Given the description of an element on the screen output the (x, y) to click on. 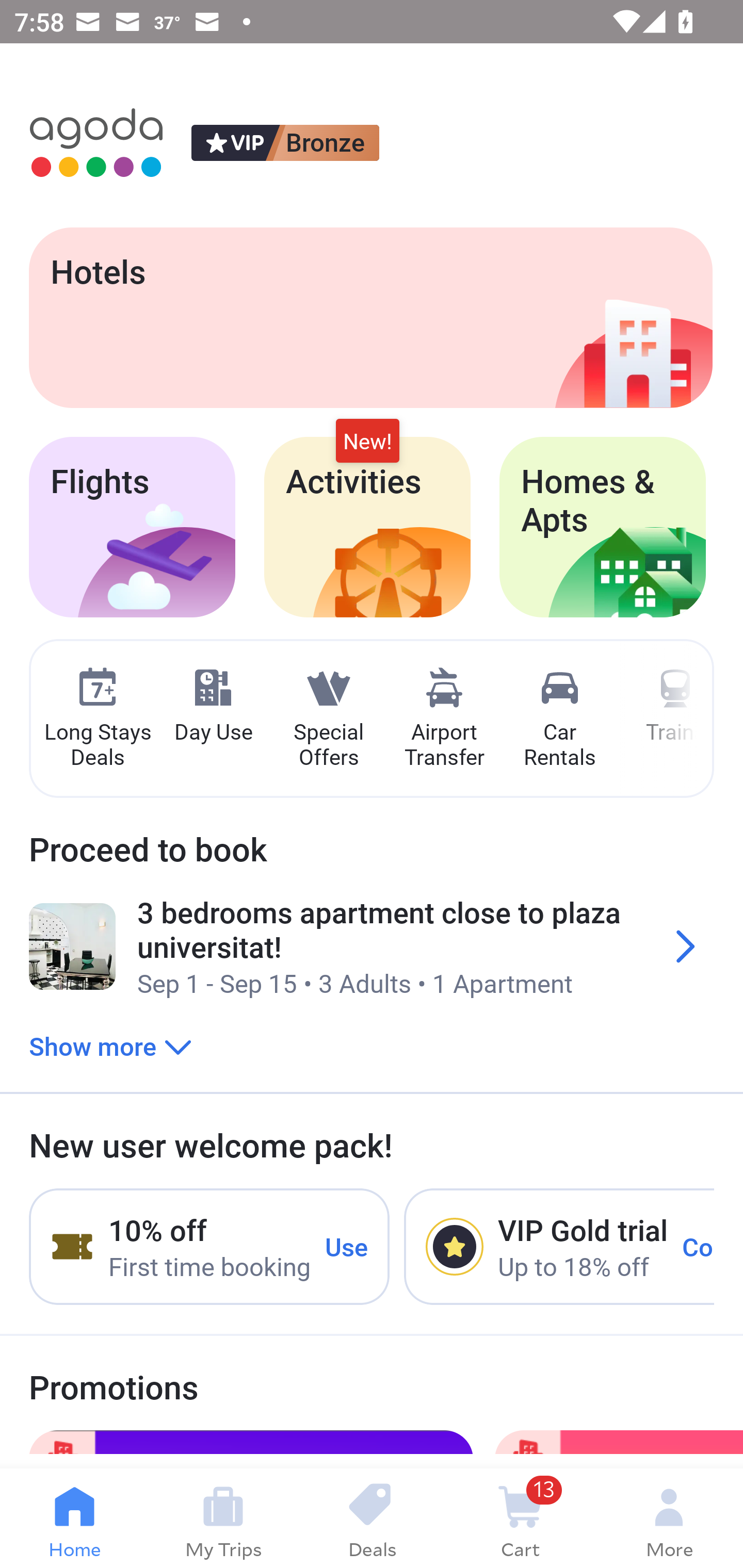
Hotels (370, 317)
New! (367, 441)
Flights (131, 527)
Activities (367, 527)
Homes & Apts (602, 527)
Day Use (213, 706)
Long Stays Deals (97, 718)
Special Offers (328, 718)
Airport Transfer (444, 718)
Car Rentals (559, 718)
Show more (110, 1045)
Use (346, 1246)
Home (74, 1518)
My Trips (222, 1518)
Deals (371, 1518)
13 Cart (519, 1518)
More (668, 1518)
